Given the description of an element on the screen output the (x, y) to click on. 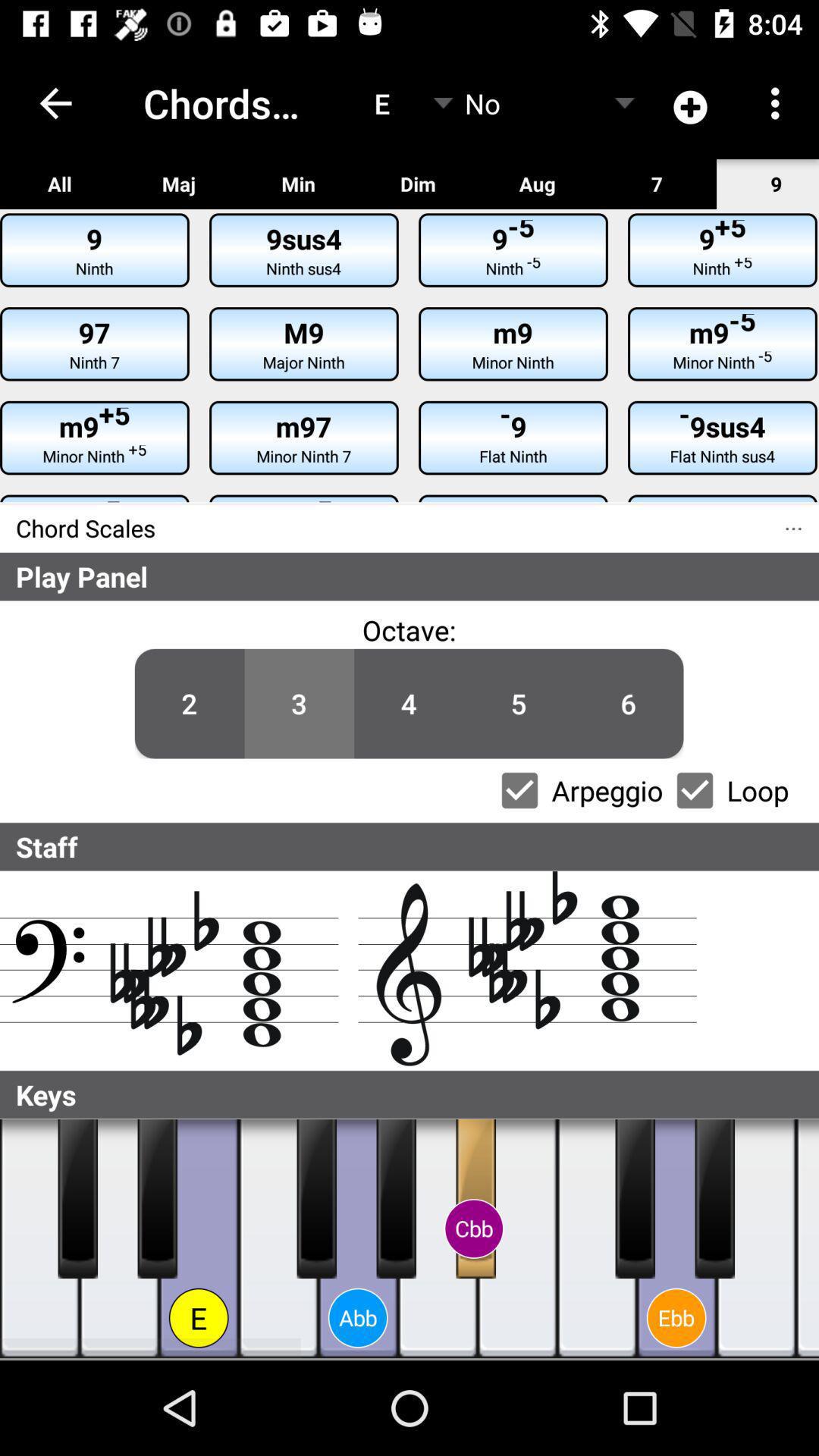
black key on piano keyboard (714, 1198)
